Given the description of an element on the screen output the (x, y) to click on. 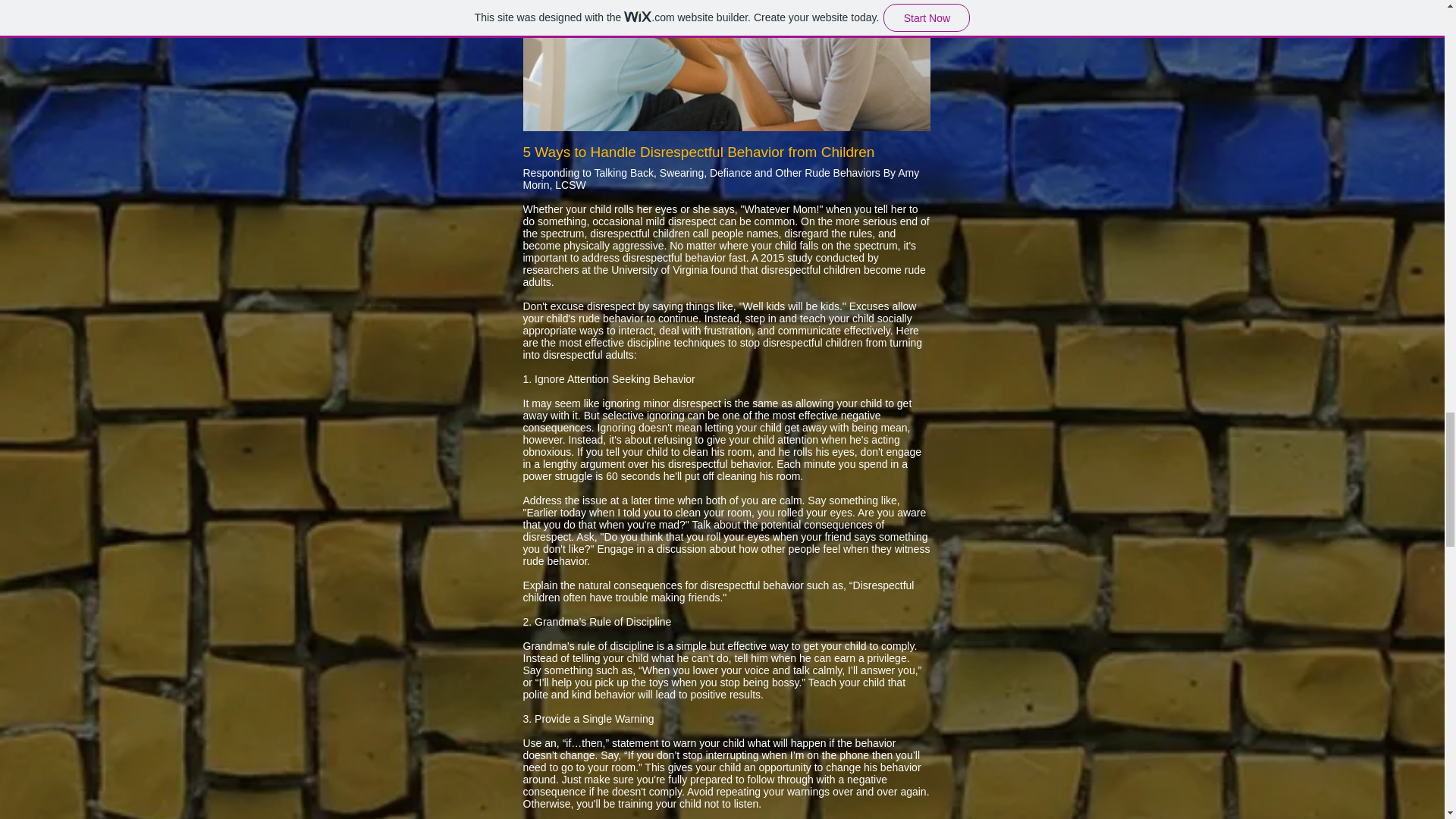
mom discipline disrespectful behavior children (726, 65)
